Given the description of an element on the screen output the (x, y) to click on. 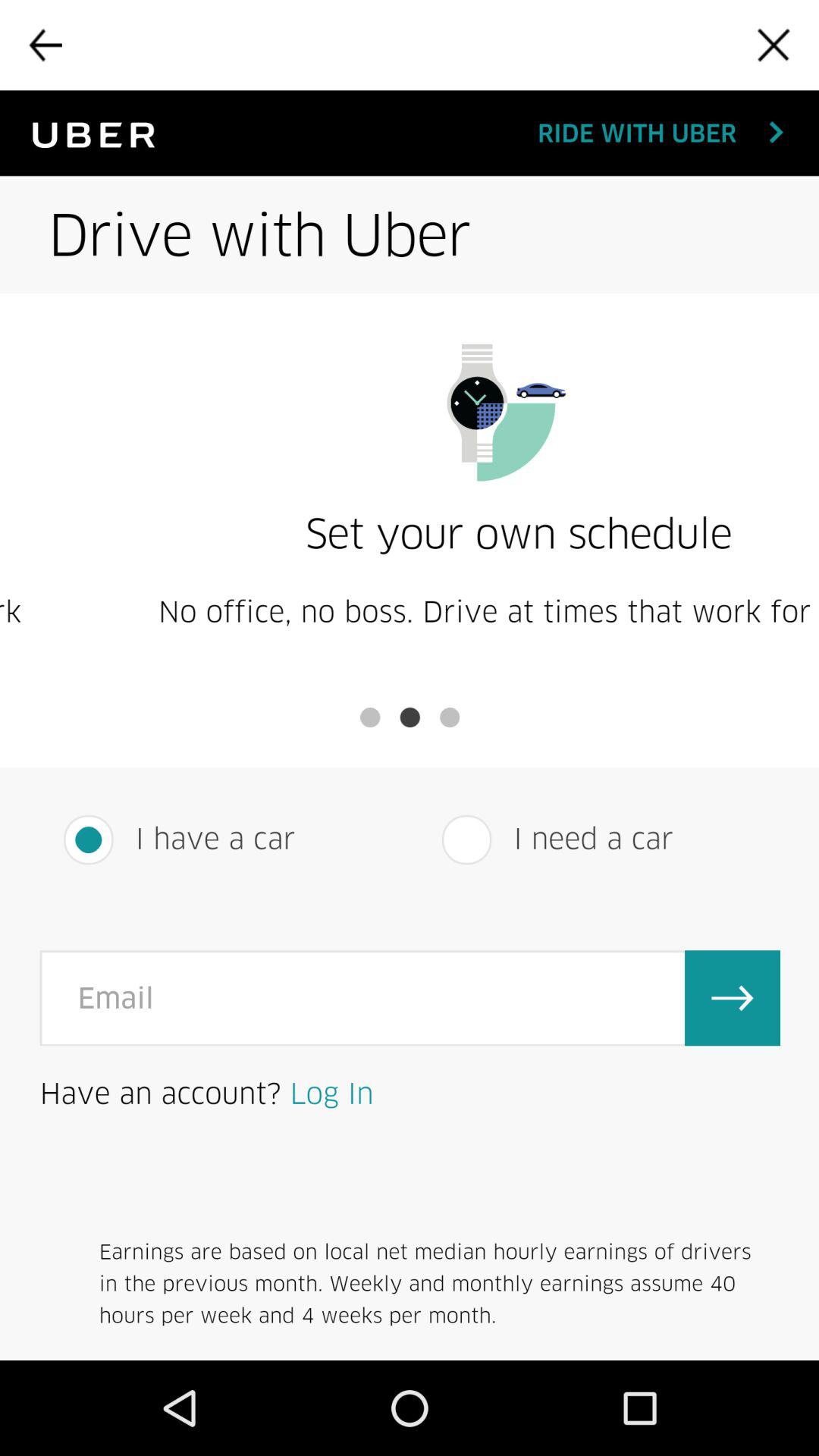
click to close (773, 45)
